Given the description of an element on the screen output the (x, y) to click on. 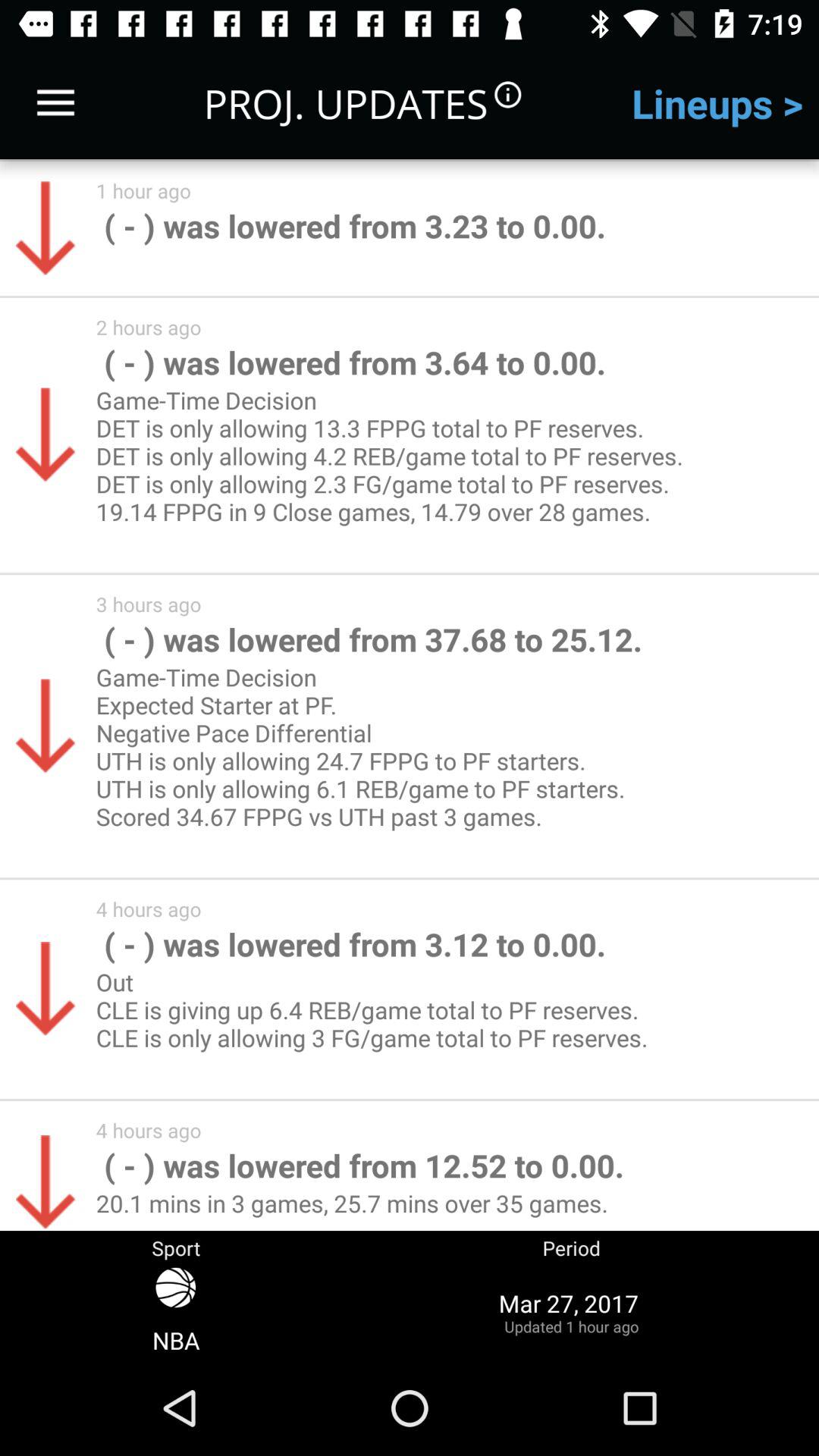
turn off the icon at the top right corner (717, 103)
